Given the description of an element on the screen output the (x, y) to click on. 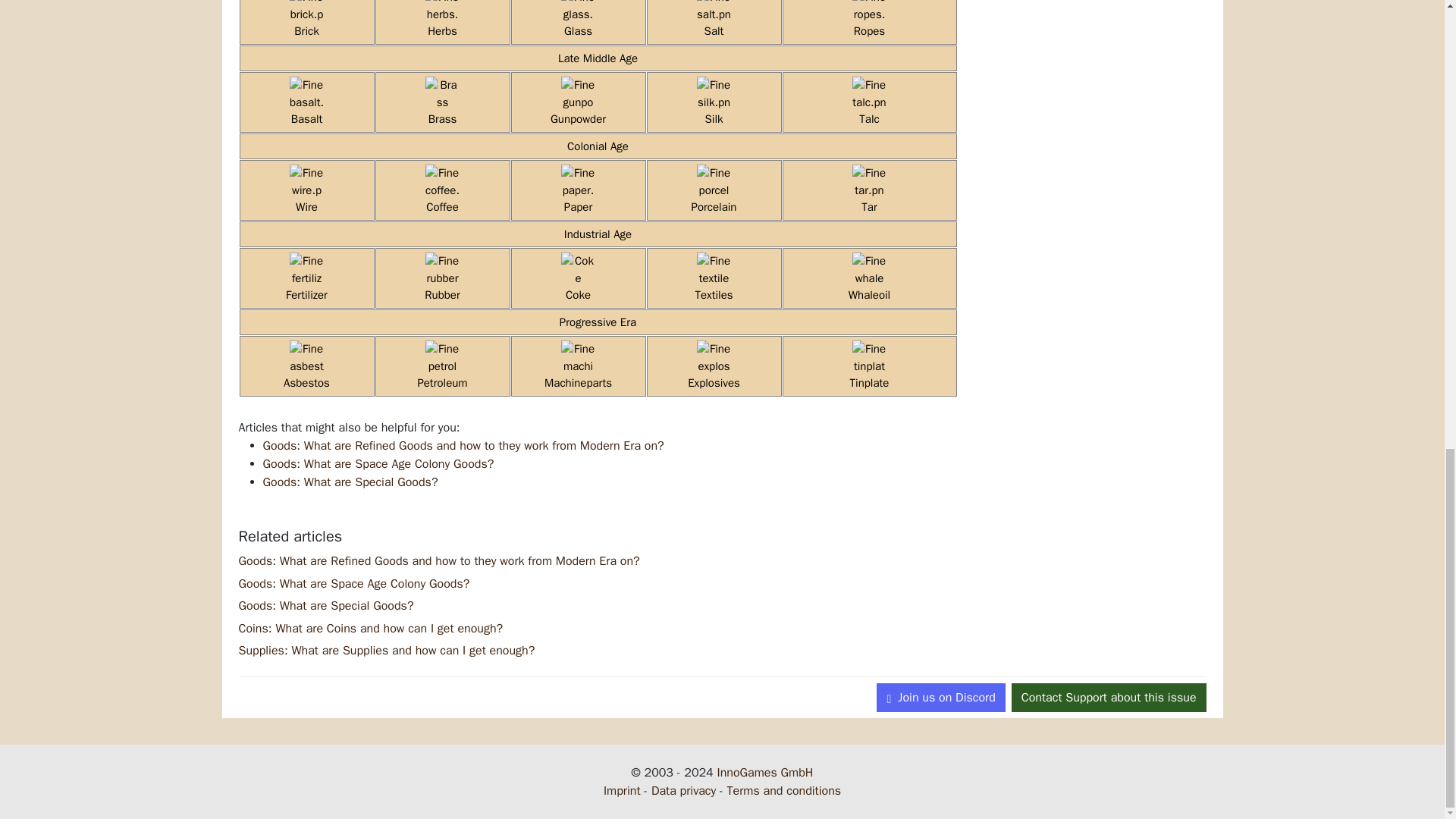
Imprint (622, 790)
Goods: What are Space Age Colony Goods? (377, 463)
Terms and conditions (783, 790)
Coins: What are Coins and how can I get enough? (370, 628)
Data privacy (683, 790)
Join us on Discord (940, 697)
Goods: What are Space Age Colony Goods? (353, 583)
Goods: What are Special Goods? (325, 605)
Supplies: What are Supplies and how can I get enough? (386, 650)
Contact Support about this issue (1109, 697)
Goods: What are Special Goods? (350, 482)
InnoGames GmbH (765, 772)
